Given the description of an element on the screen output the (x, y) to click on. 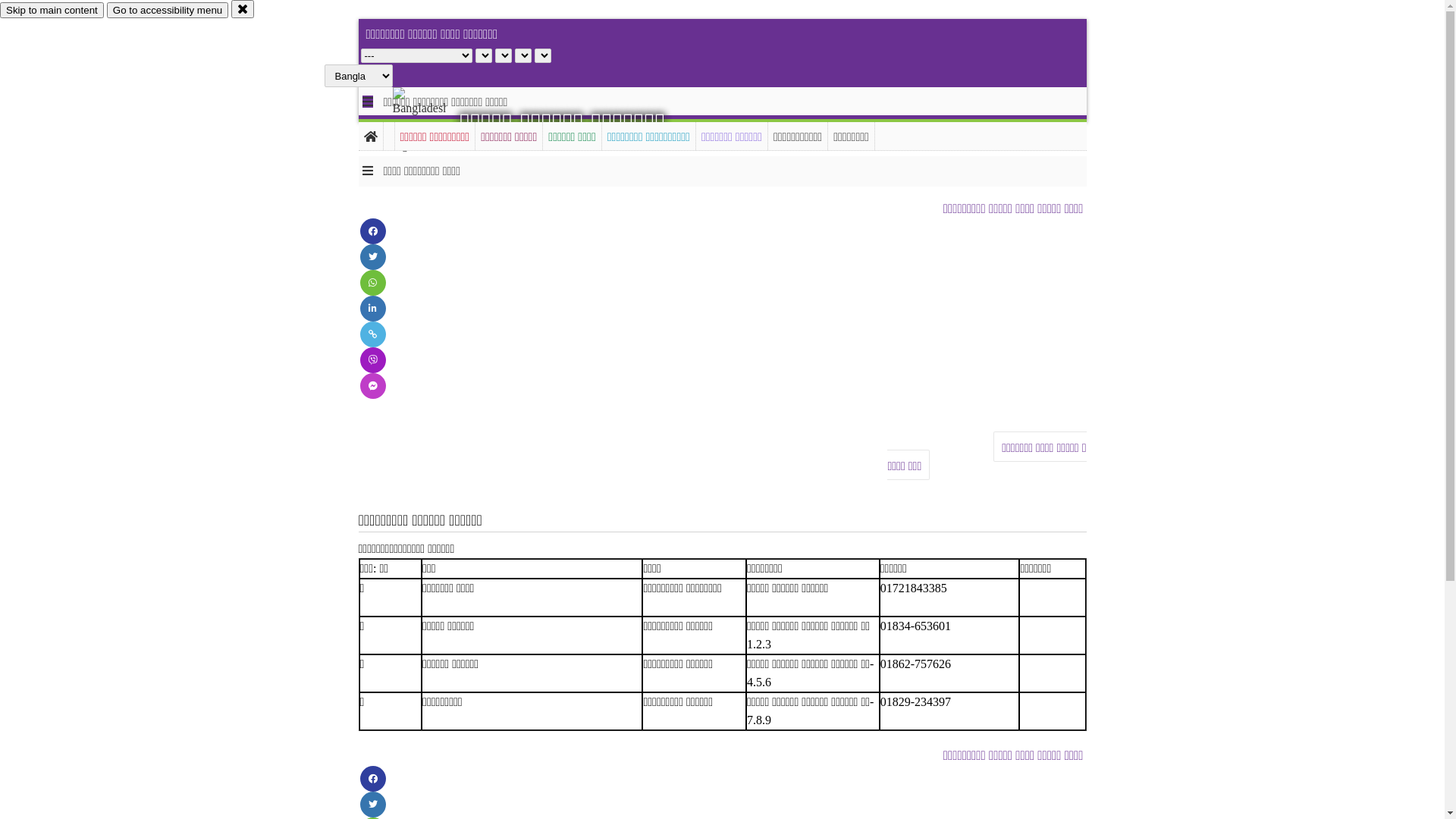

                
             Element type: hover (431, 120)
Skip to main content Element type: text (51, 10)
close Element type: hover (242, 9)
Go to accessibility menu Element type: text (167, 10)
